Given the description of an element on the screen output the (x, y) to click on. 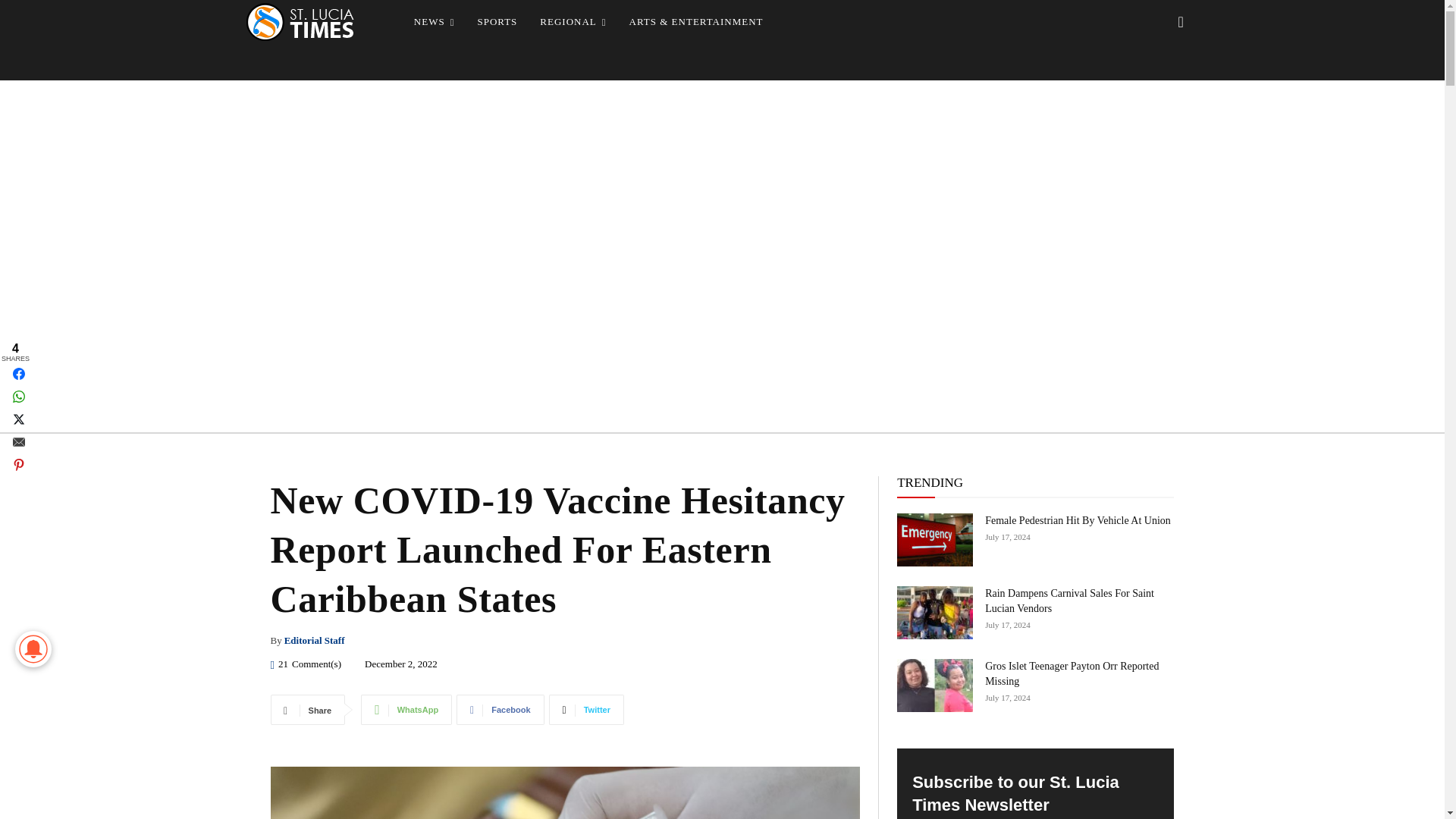
Twitter (586, 709)
WhatsApp (406, 709)
Facebook (500, 709)
Female Pedestrian Hit By Vehicle At Union (934, 539)
Female Pedestrian Hit By Vehicle At Union (1077, 520)
